Given the description of an element on the screen output the (x, y) to click on. 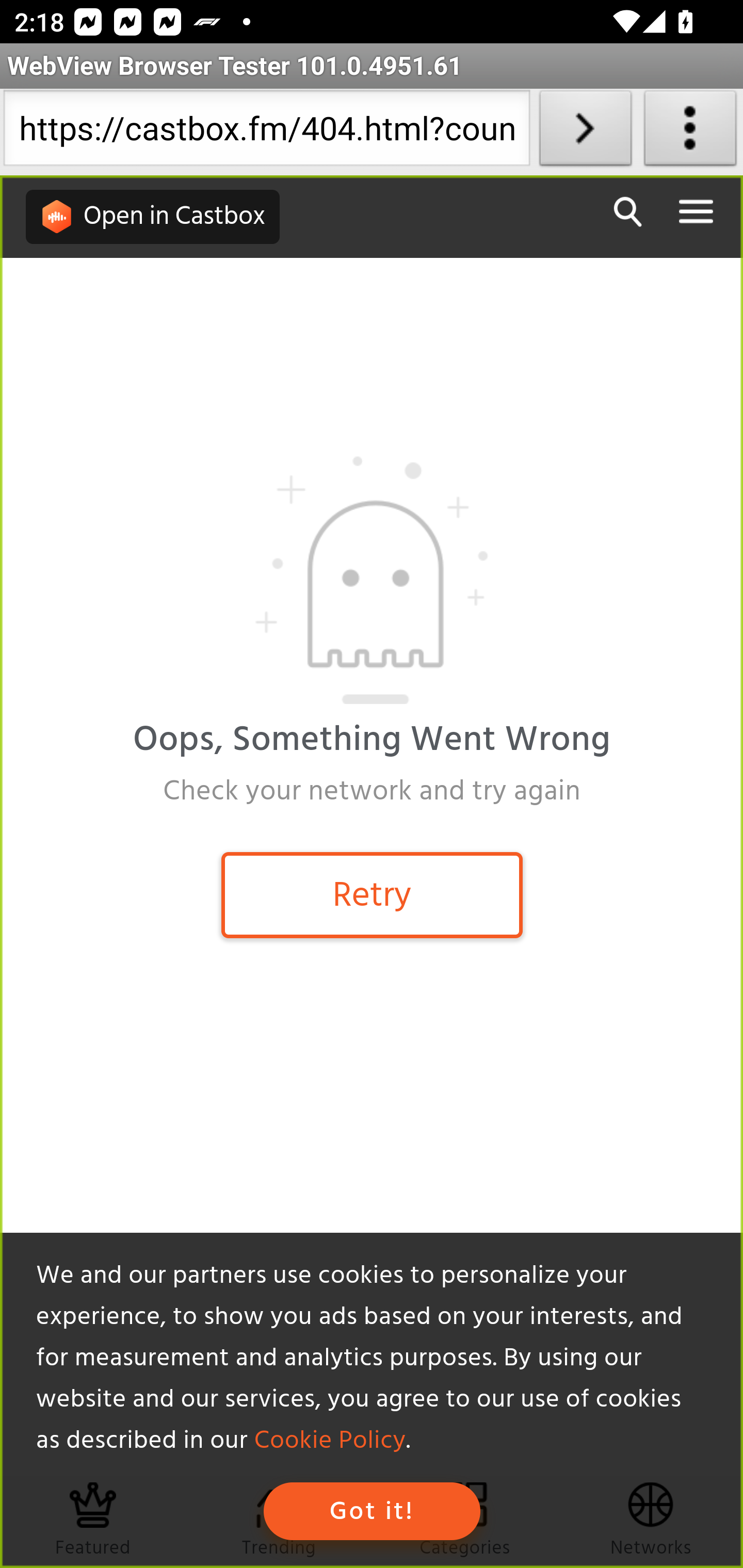
Load URL (585, 132)
About WebView (690, 132)
Retry (371, 894)
Cookie Policy (329, 1440)
Got it! (371, 1511)
